Given the description of an element on the screen output the (x, y) to click on. 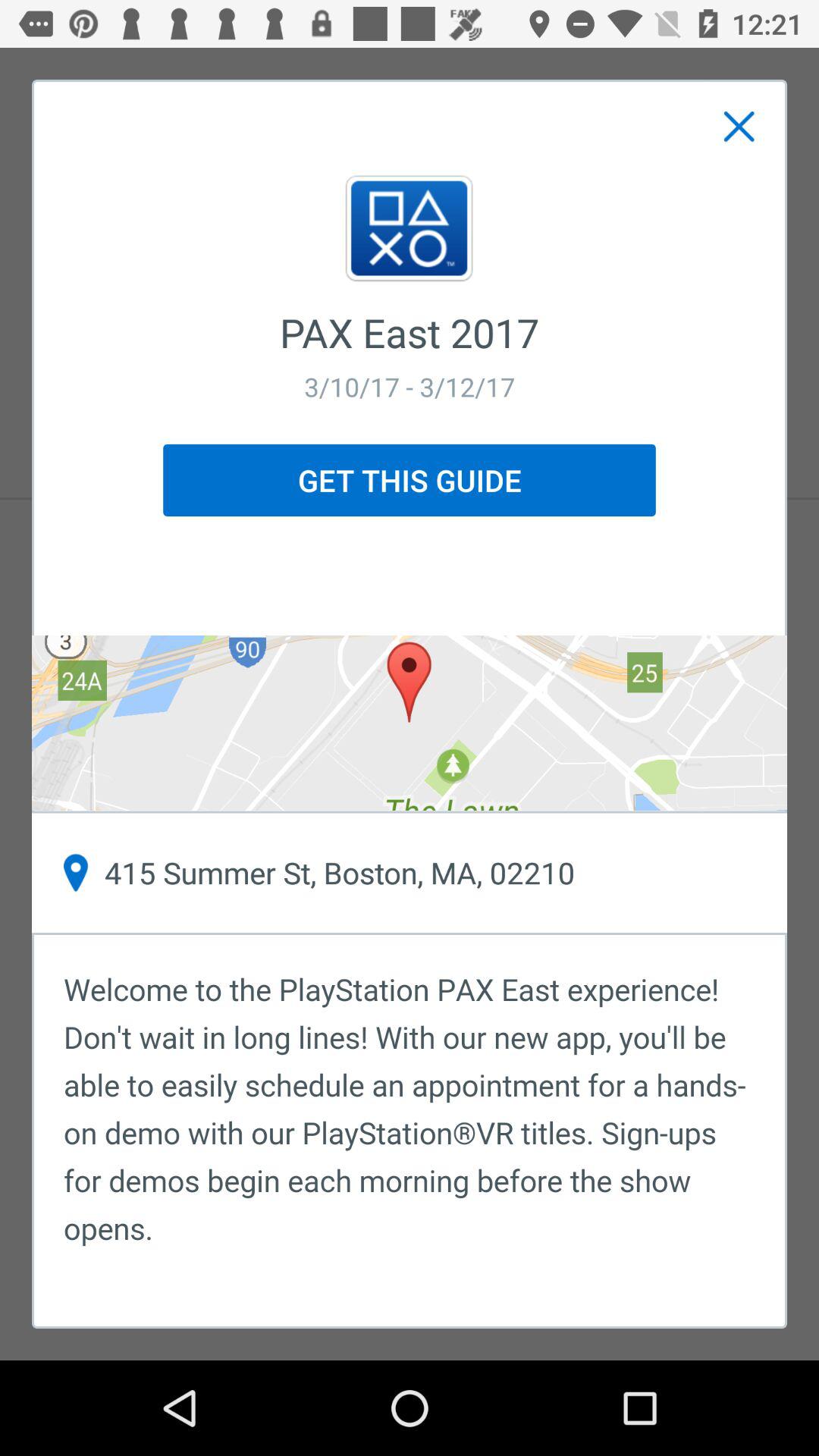
flip until 415 summer st icon (409, 872)
